Given the description of an element on the screen output the (x, y) to click on. 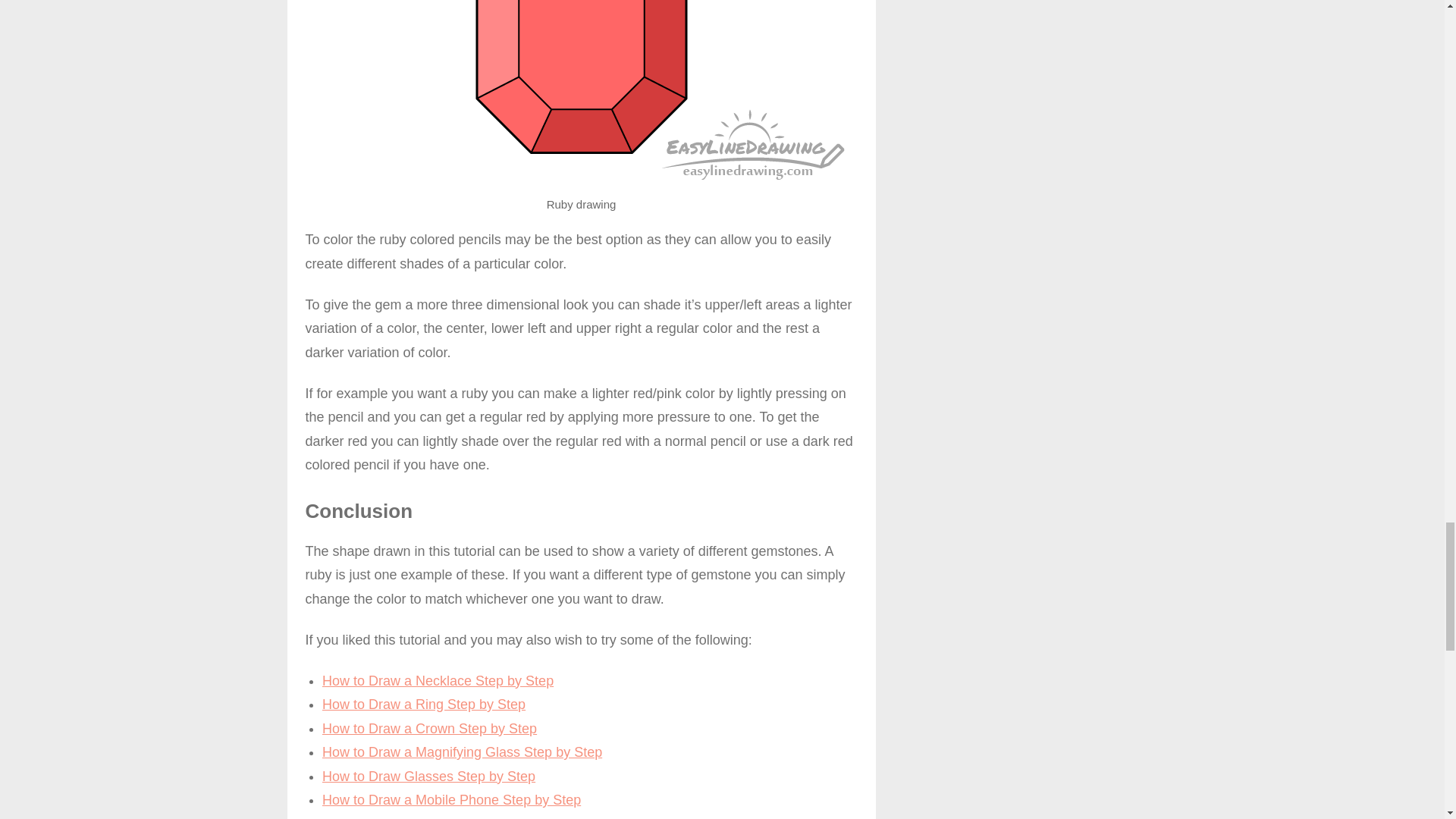
How to Draw a Necklace Step by Step (437, 680)
How to Draw a Magnifying Glass Step by Step (461, 752)
How to Draw a Mobile Phone Step by Step (450, 799)
How to Draw Glasses Step by Step (428, 776)
How to Draw a Ring Step by Step (423, 703)
How to Draw a Crown Step by Step (429, 728)
